Given the description of an element on the screen output the (x, y) to click on. 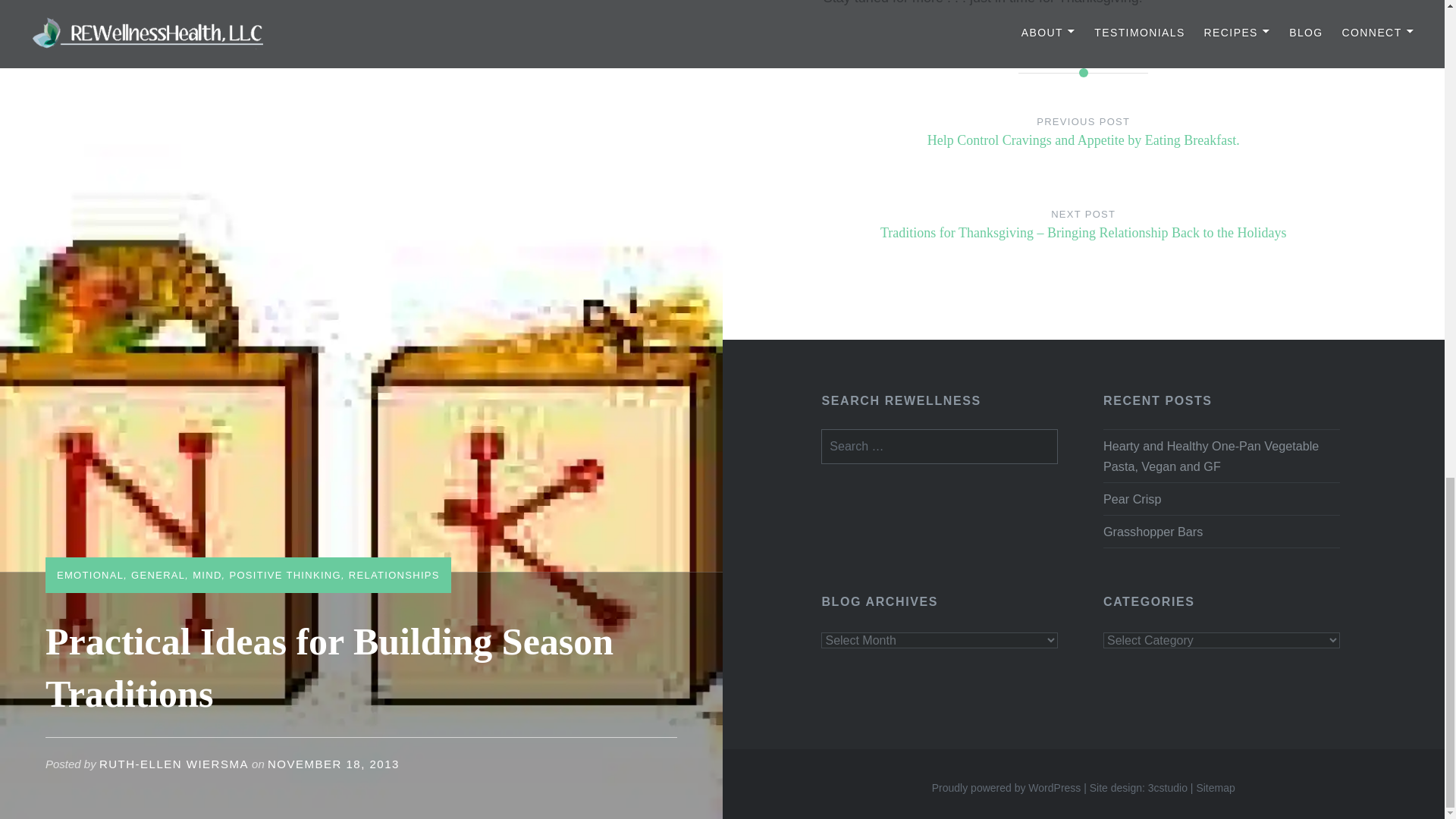
Hearty and Healthy One-Pan Vegetable Pasta, Vegan and GF (1221, 455)
Sitemap (1214, 787)
Grasshopper Bars (1221, 531)
Pear Crisp (1221, 498)
